Given the description of an element on the screen output the (x, y) to click on. 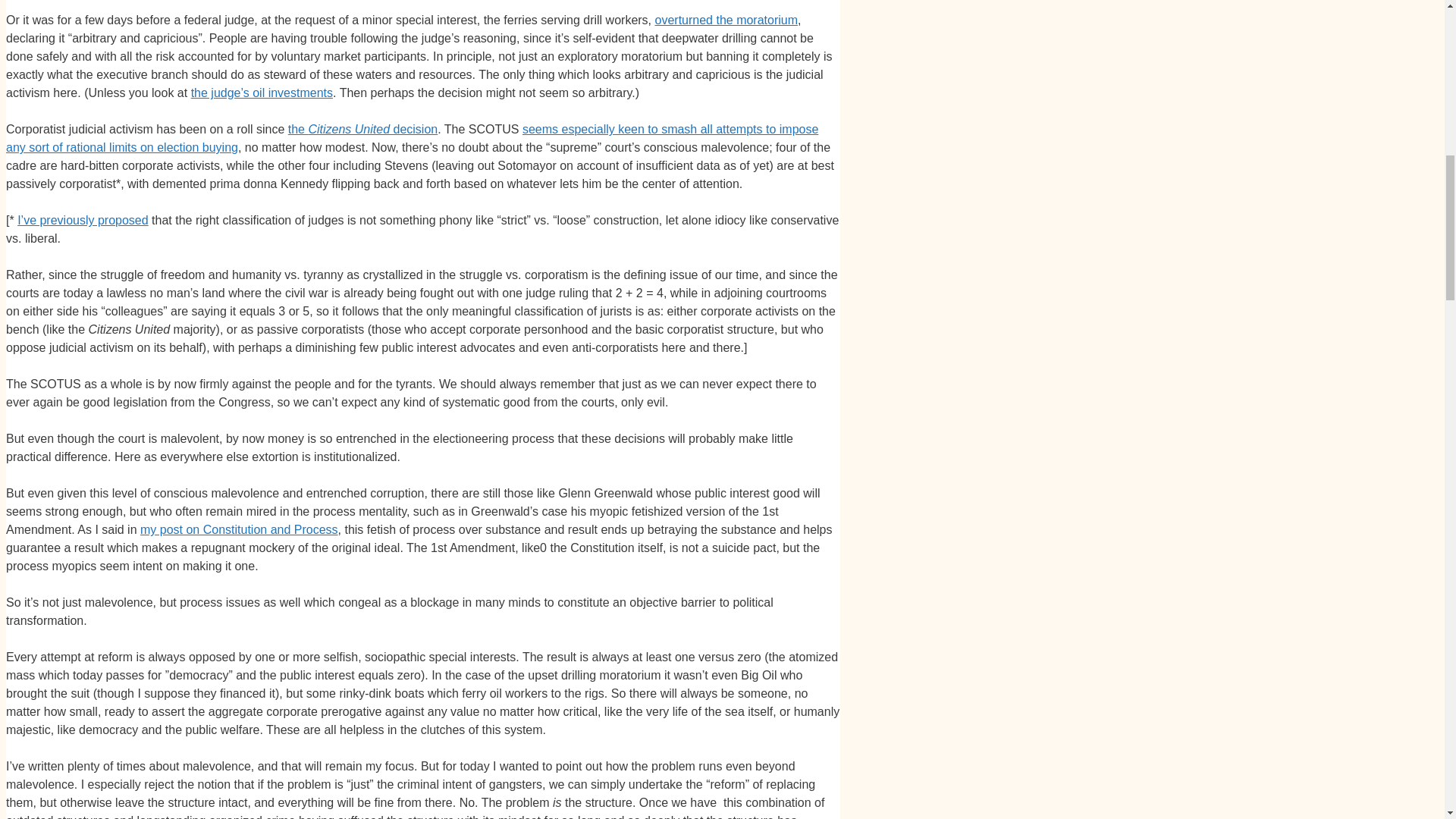
my post on Constitution and Process (238, 529)
overturned the moratorium (726, 19)
the Citizens United decision (363, 128)
